Given the description of an element on the screen output the (x, y) to click on. 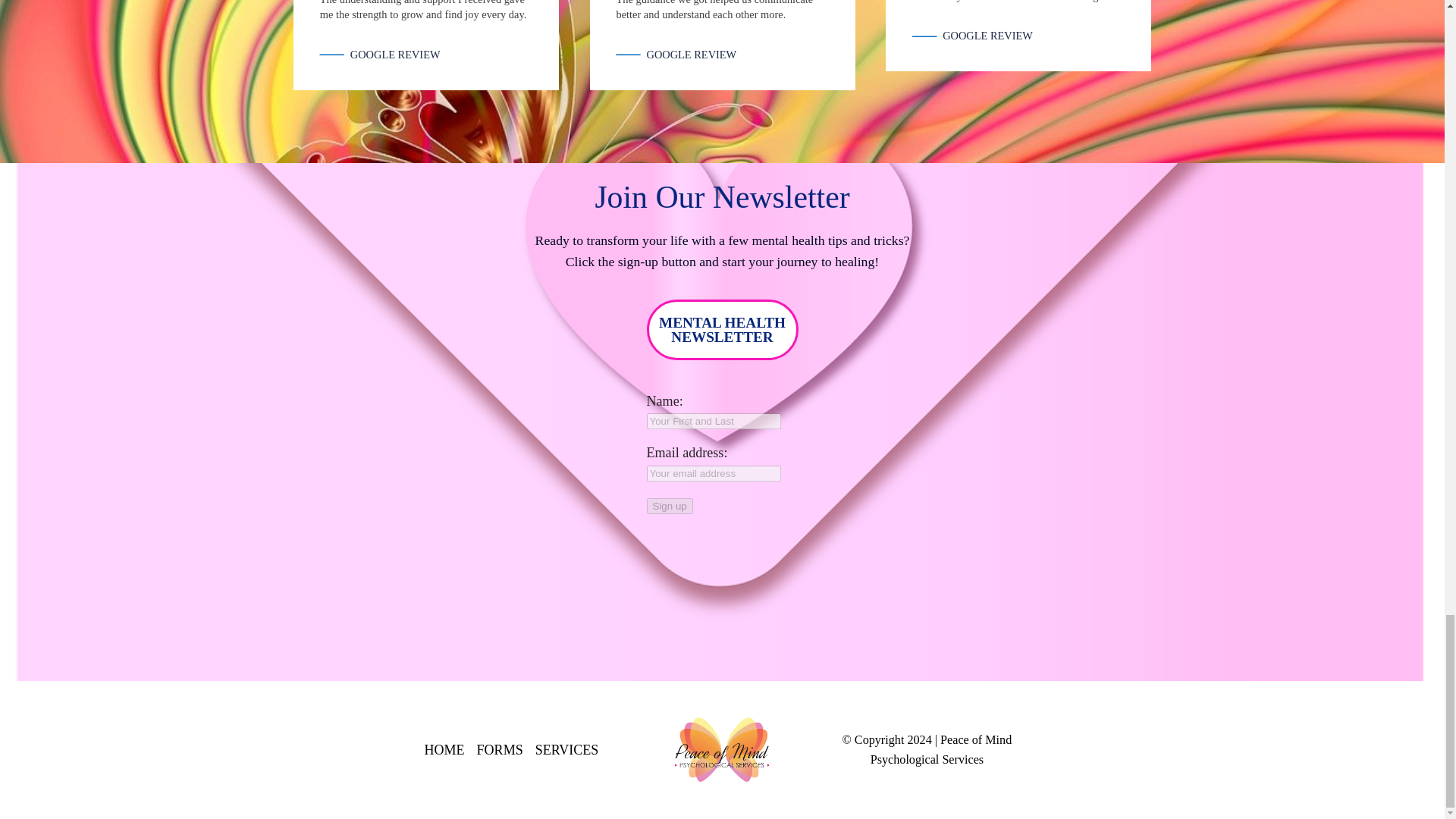
HOME (444, 750)
FORMS (499, 750)
SERVICES (566, 750)
Sign up (669, 505)
MENTAL HEALTH NEWSLETTER (721, 329)
Sign up (669, 505)
